Given the description of an element on the screen output the (x, y) to click on. 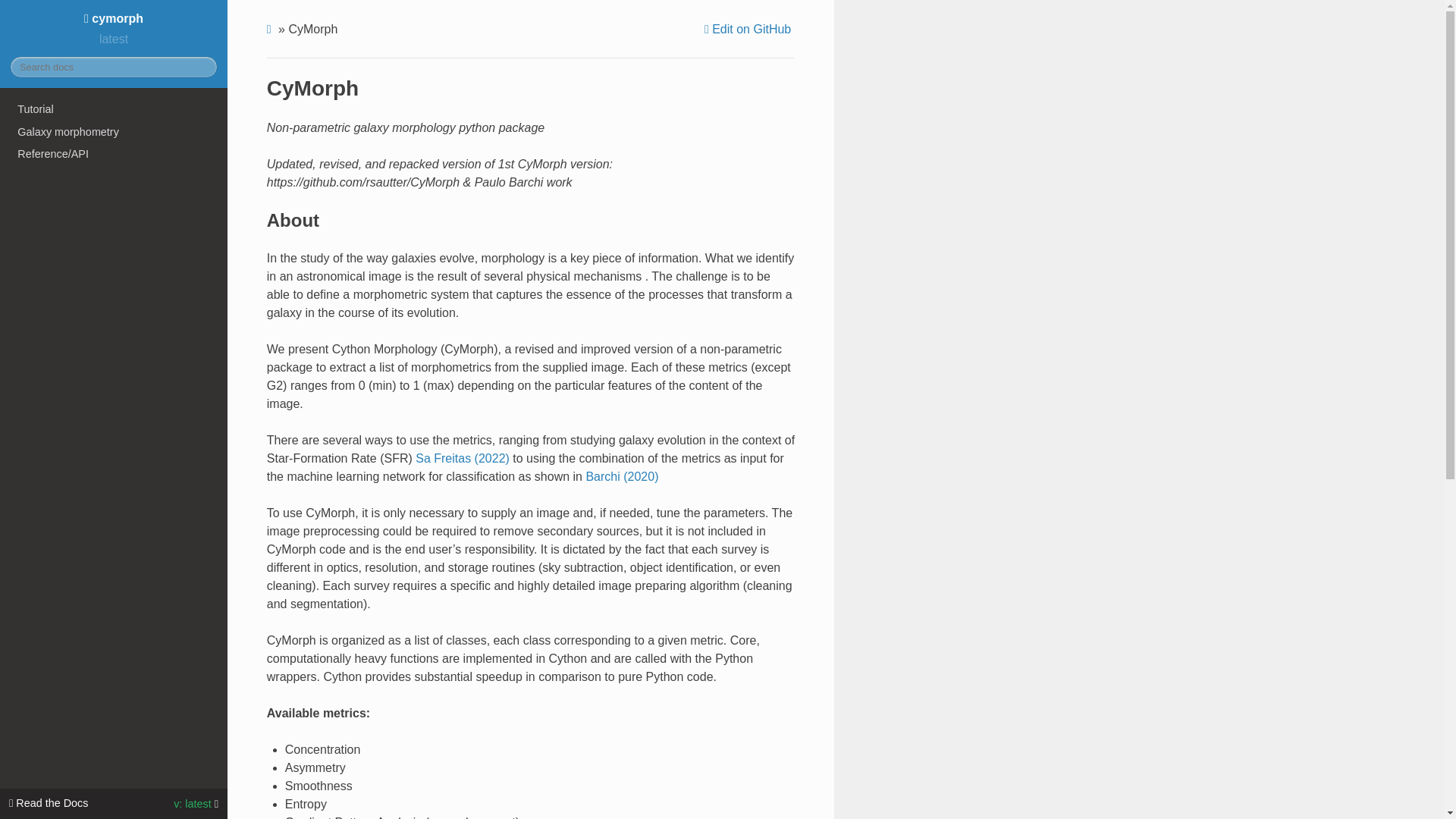
Galaxy morphometry (113, 131)
Edit on GitHub (749, 29)
cymorph (114, 18)
Tutorial (113, 108)
